Given the description of an element on the screen output the (x, y) to click on. 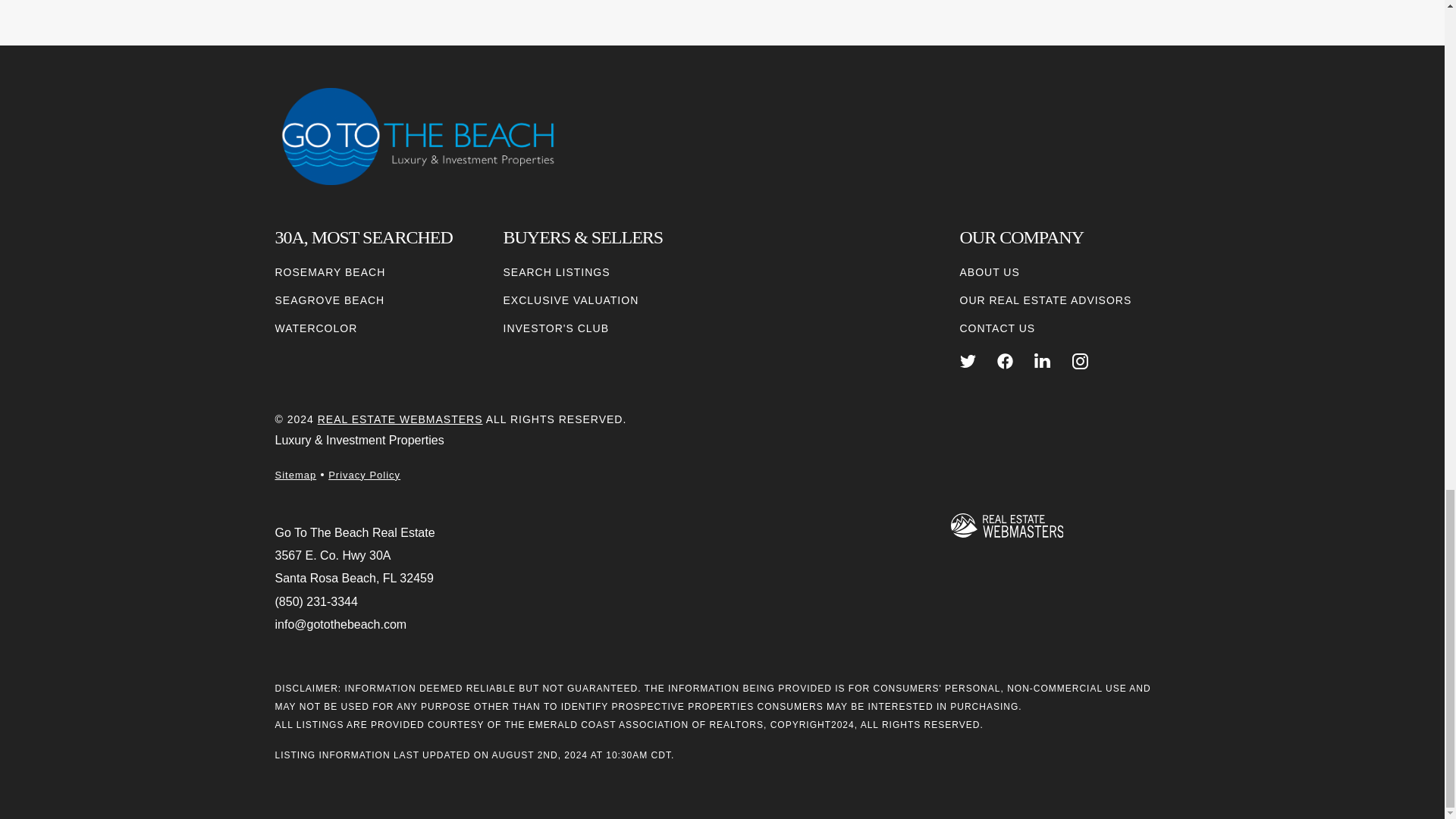
LINKEDIN (1041, 360)
TWITTER (967, 360)
FACEBOOK (1005, 360)
